Given the description of an element on the screen output the (x, y) to click on. 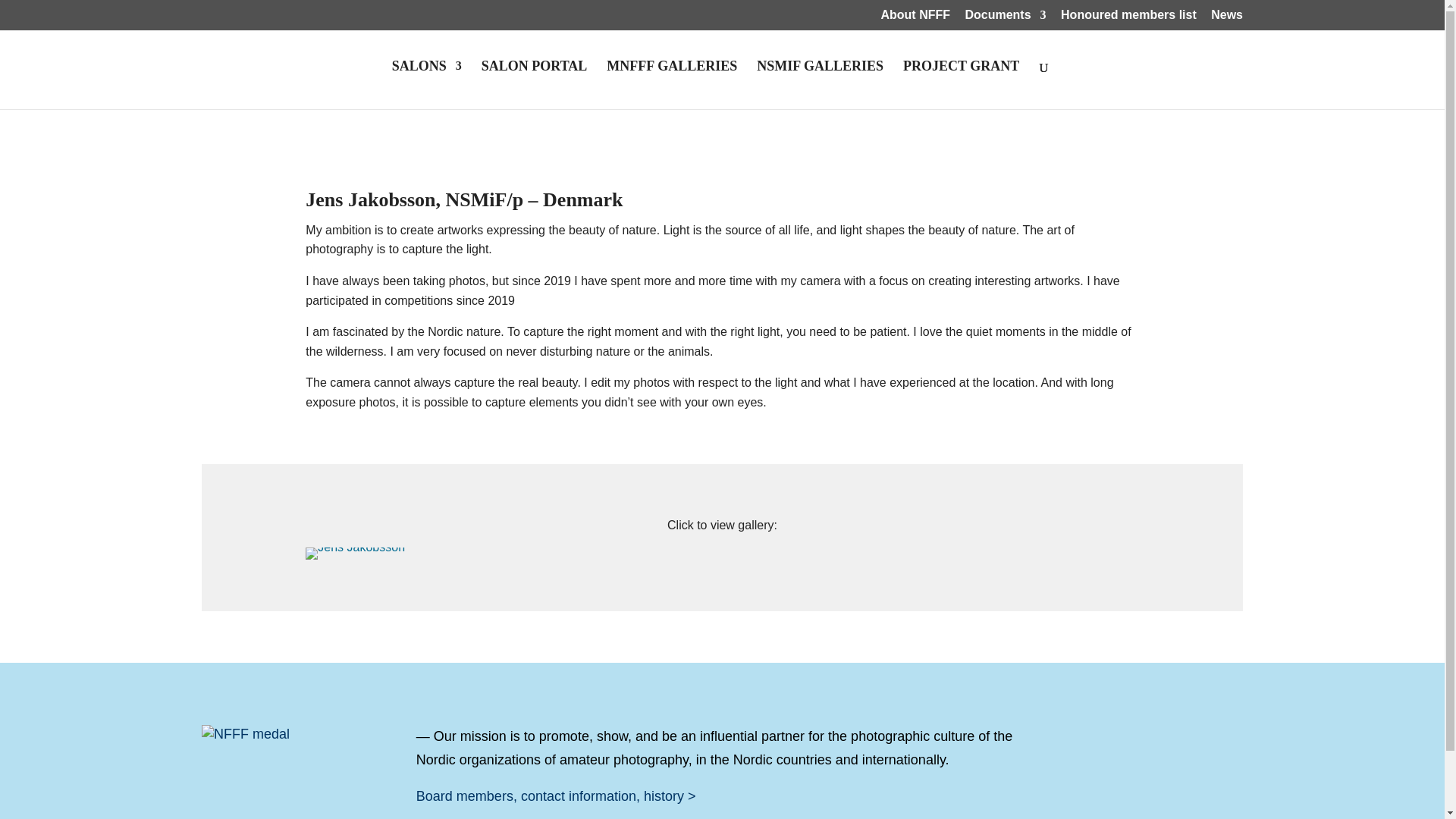
Documents (1004, 19)
Honoured members list (1128, 19)
NSMIF GALLERIES (820, 84)
About NFFF (915, 19)
SALON PORTAL (534, 84)
MNFFF GALLERIES (671, 84)
1 The cave at Drangarnir (354, 546)
PROJECT GRANT (960, 84)
SALONS (426, 84)
News (1227, 19)
